Given the description of an element on the screen output the (x, y) to click on. 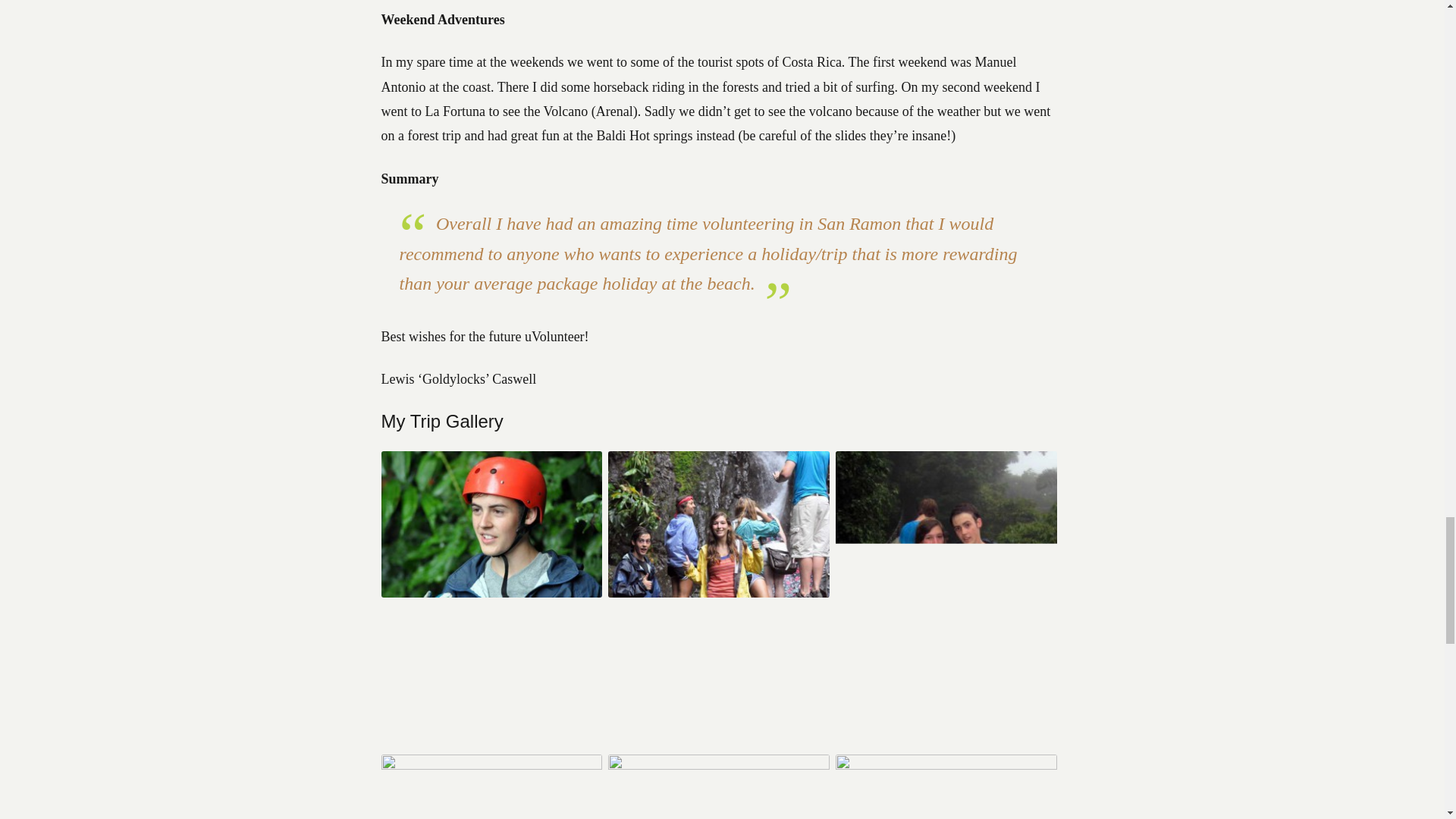
04 (946, 741)
03 (491, 765)
06 (491, 593)
05 (718, 593)
02 (718, 765)
01 (946, 765)
